Given the description of an element on the screen output the (x, y) to click on. 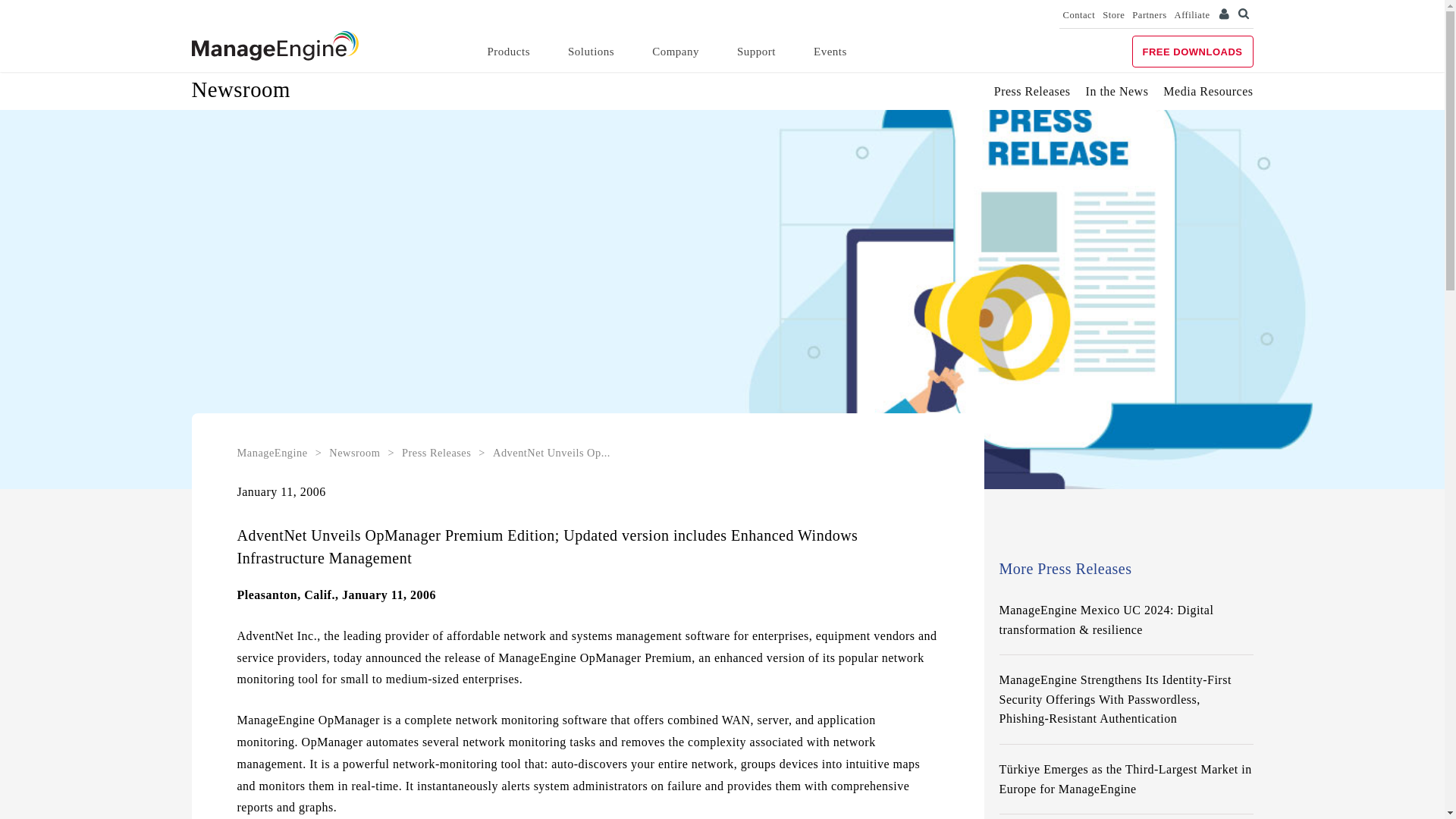
Affiliate (1191, 14)
Partners (1149, 14)
Store (1113, 14)
